Given the description of an element on the screen output the (x, y) to click on. 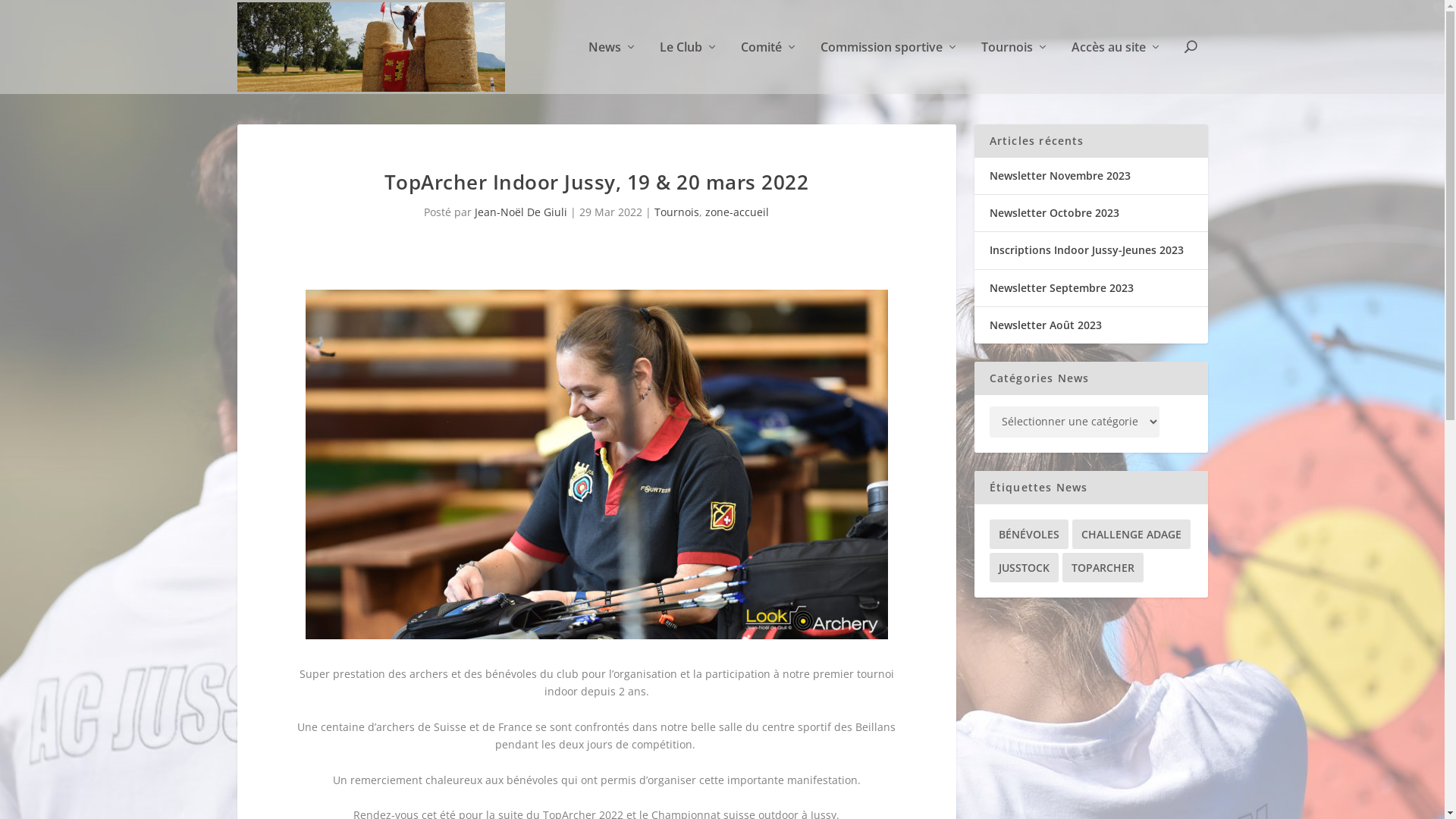
News Element type: text (612, 67)
Newsletter Septembre 2023 Element type: text (1060, 287)
CHALLENGE ADAGE Element type: text (1131, 534)
TOPARCHER Element type: text (1101, 567)
Le Club Element type: text (688, 67)
zone-accueil Element type: text (736, 211)
Tournois Element type: text (676, 211)
Tournois Element type: text (1014, 67)
Newsletter Novembre 2023 Element type: text (1058, 175)
Inscriptions Indoor Jussy-Jeunes 2023 Element type: text (1085, 249)
Newsletter Octobre 2023 Element type: text (1053, 212)
Commission sportive Element type: text (889, 67)
JUSSTOCK Element type: text (1022, 567)
